Given the description of an element on the screen output the (x, y) to click on. 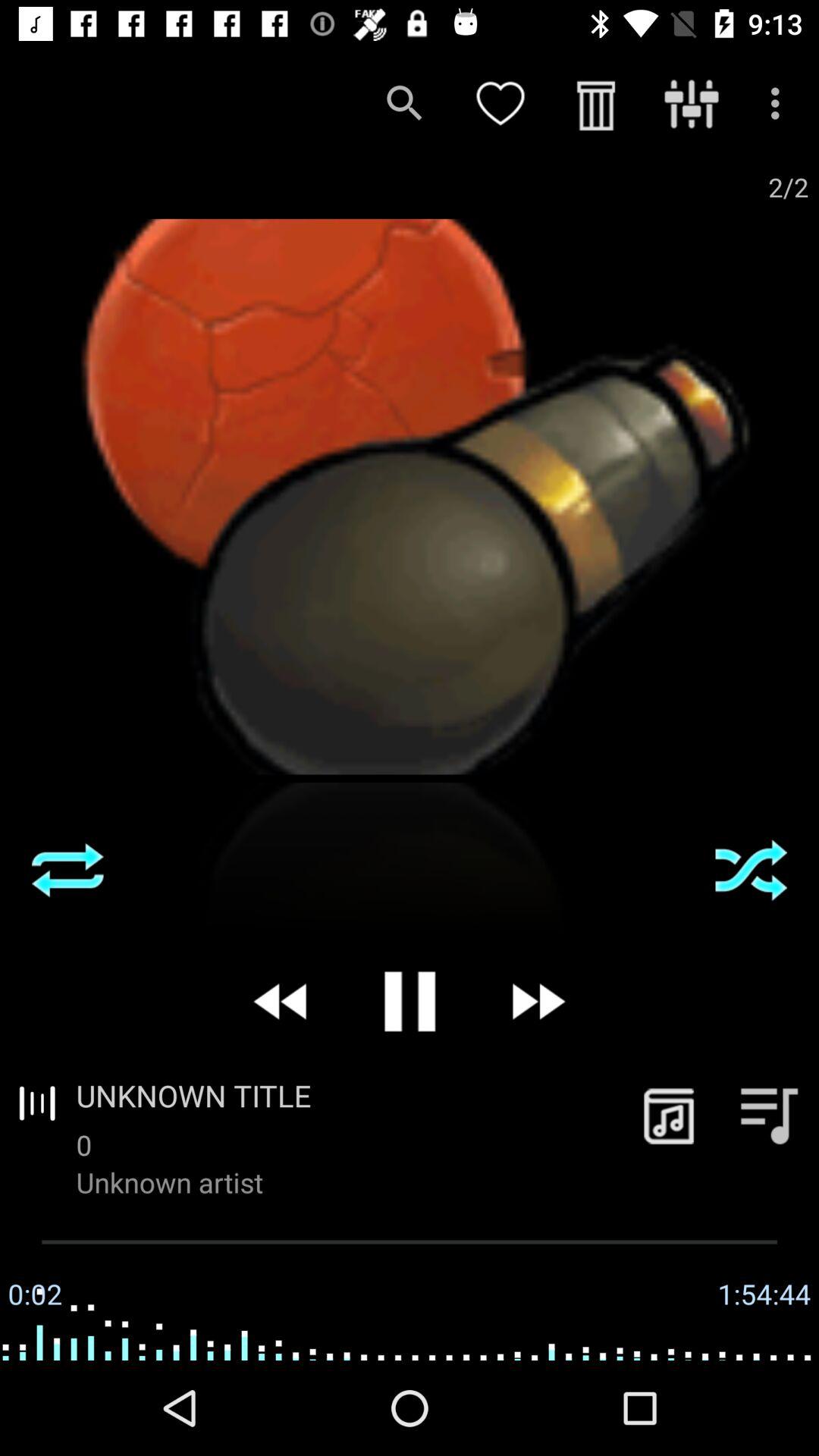
click the item on the right (751, 869)
